Given the description of an element on the screen output the (x, y) to click on. 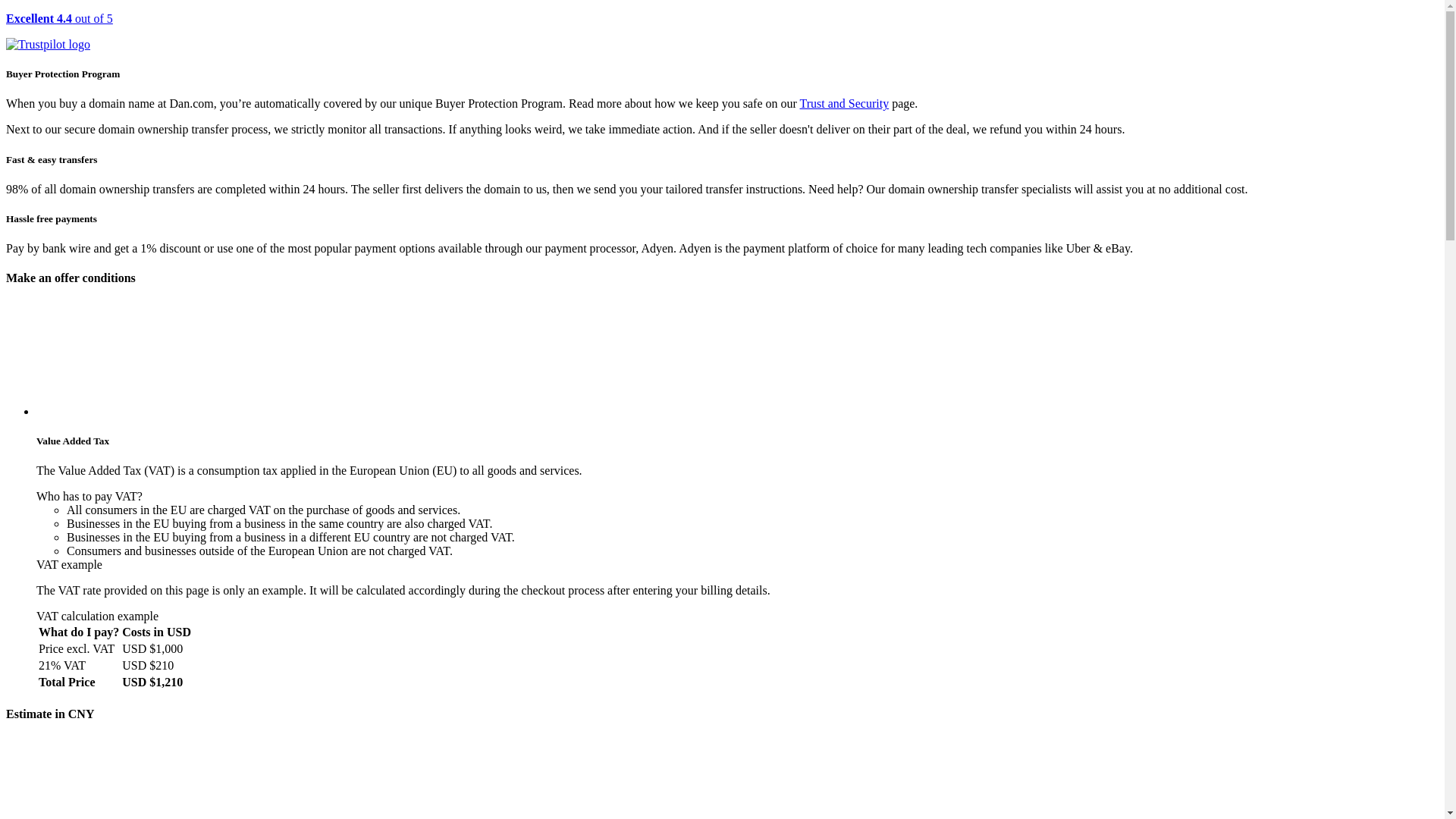
Trust and Security Element type: text (844, 103)
Excellent 4.4 out of 5 Element type: text (722, 31)
